Given the description of an element on the screen output the (x, y) to click on. 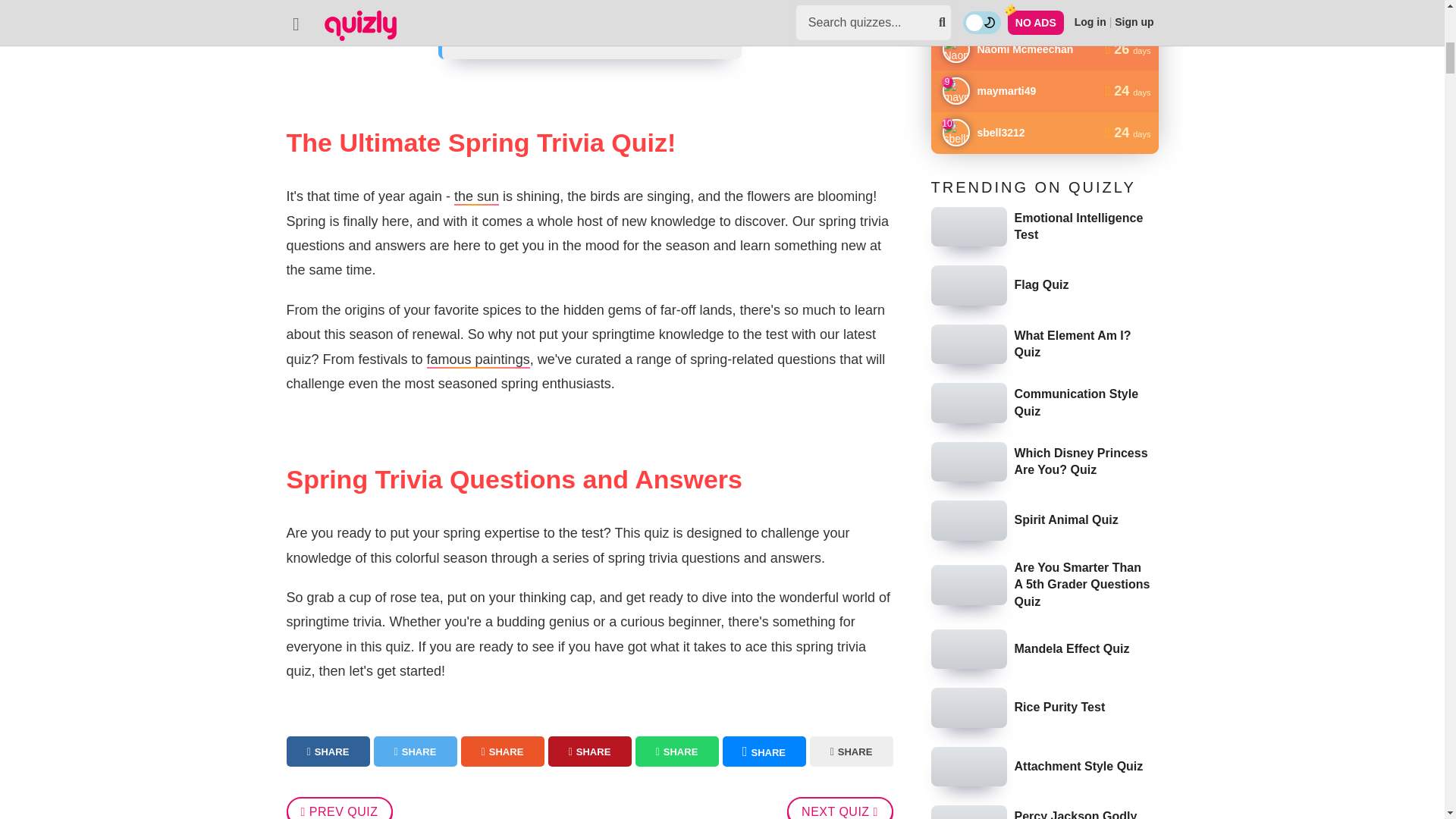
Share this quiz on Twitter (414, 751)
Share this quiz on Facebook (327, 751)
Share this quiz on Reddit (502, 751)
